Given the description of an element on the screen output the (x, y) to click on. 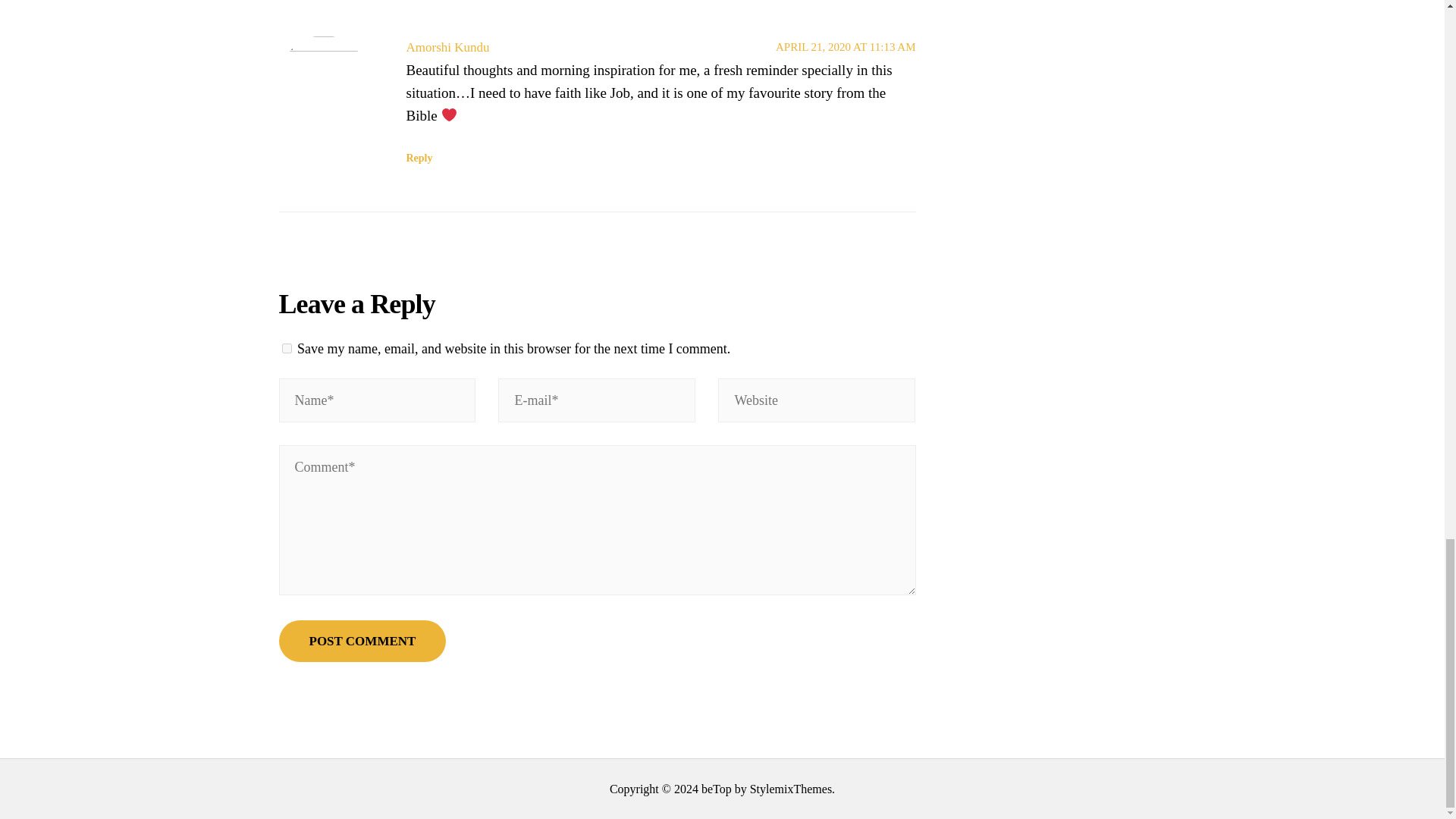
Post Comment (362, 640)
APRIL 21, 2020 AT 11:13 AM (845, 47)
Reply (419, 157)
beTop (715, 788)
yes (287, 347)
Amorshi Kundu (447, 47)
Post Comment (362, 640)
StylemixThemes. (791, 788)
